Given the description of an element on the screen output the (x, y) to click on. 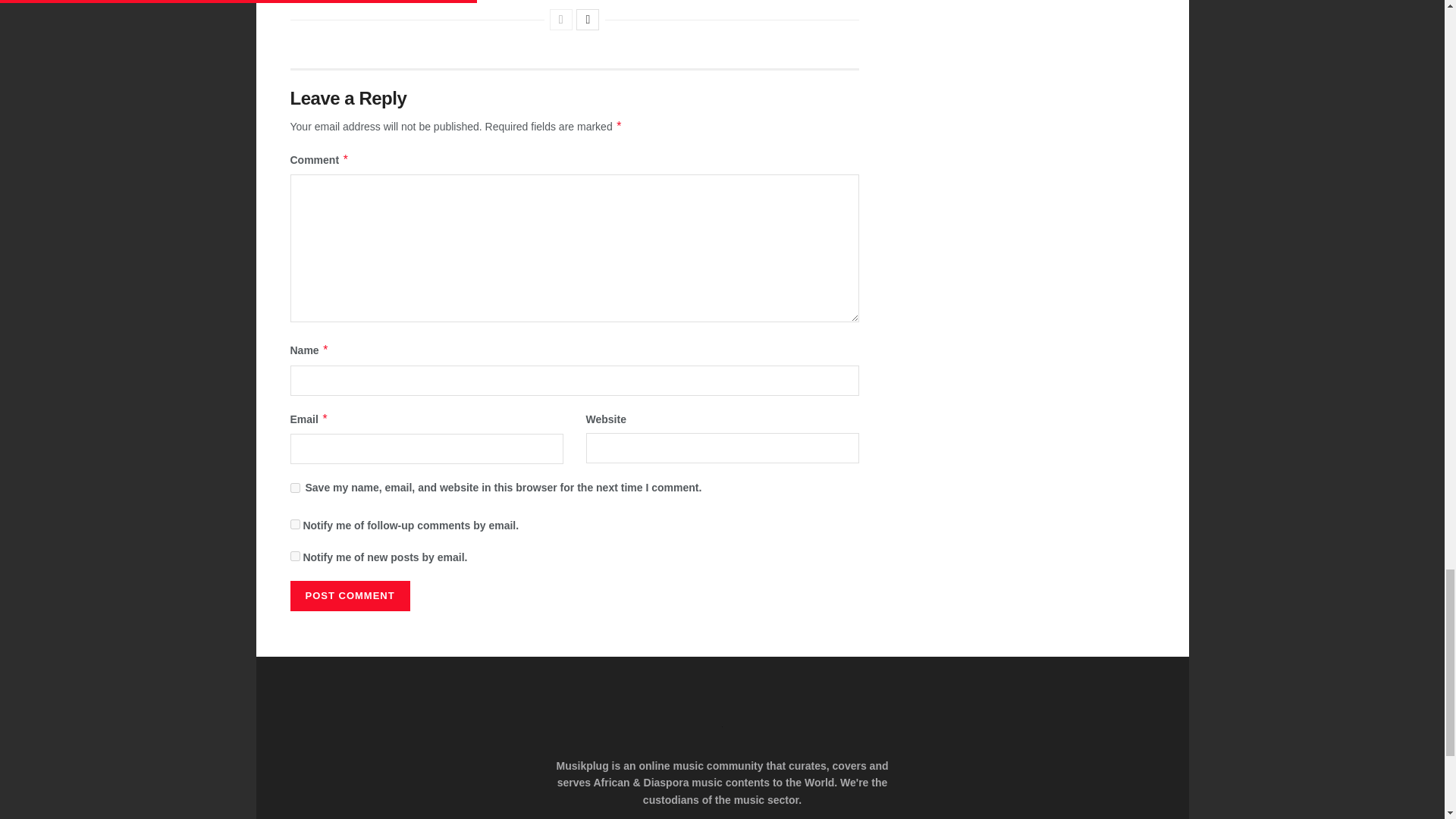
yes (294, 488)
subscribe (294, 556)
subscribe (294, 524)
Post Comment (349, 595)
